Given the description of an element on the screen output the (x, y) to click on. 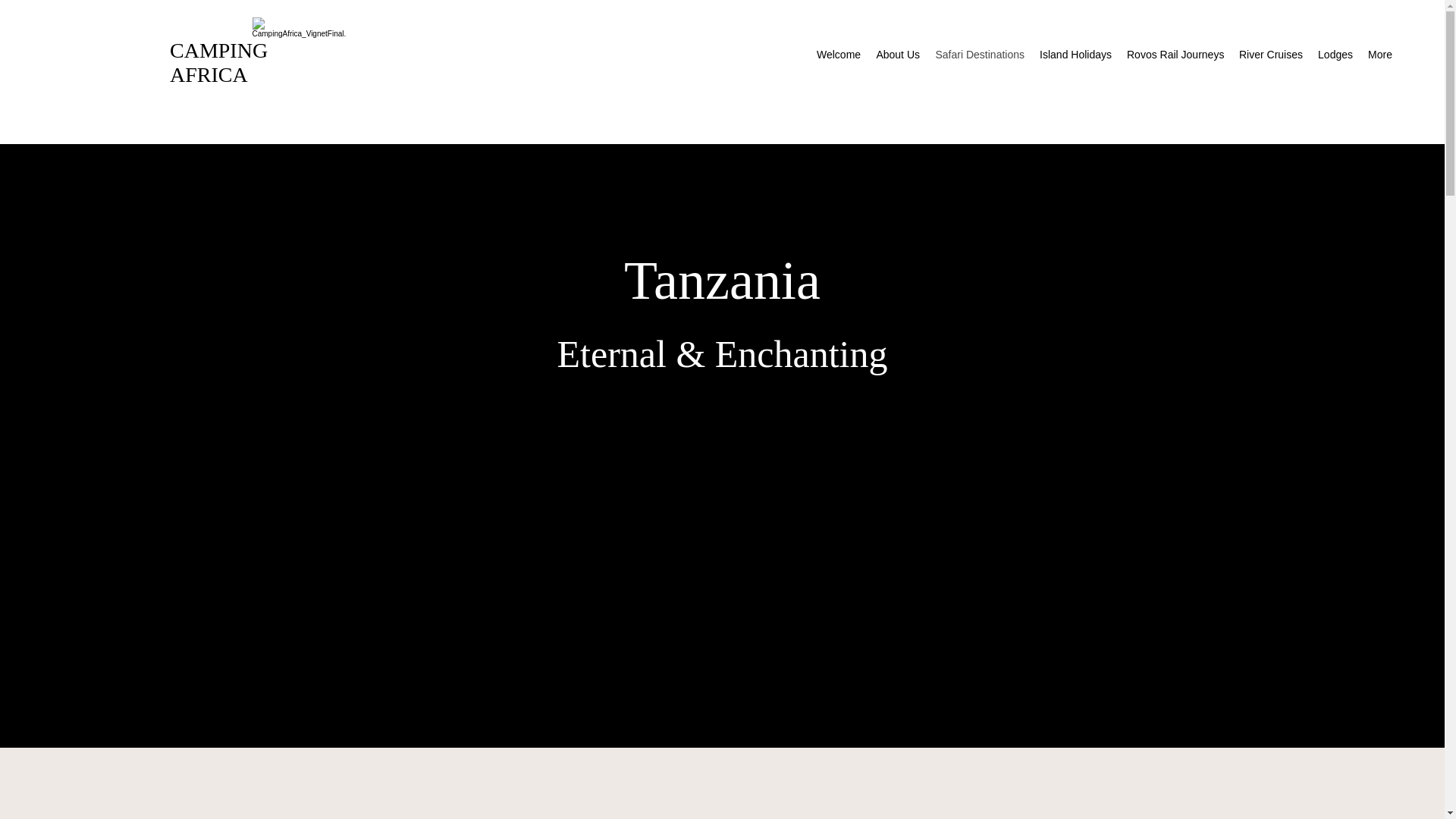
About Us (897, 54)
Welcome (838, 54)
Safari Destinations (979, 54)
CAMPING AFRICA  (218, 62)
River Cruises (1270, 54)
Island Holidays (1075, 54)
Rovos Rail Journeys (1175, 54)
Lodges (1334, 54)
